Given the description of an element on the screen output the (x, y) to click on. 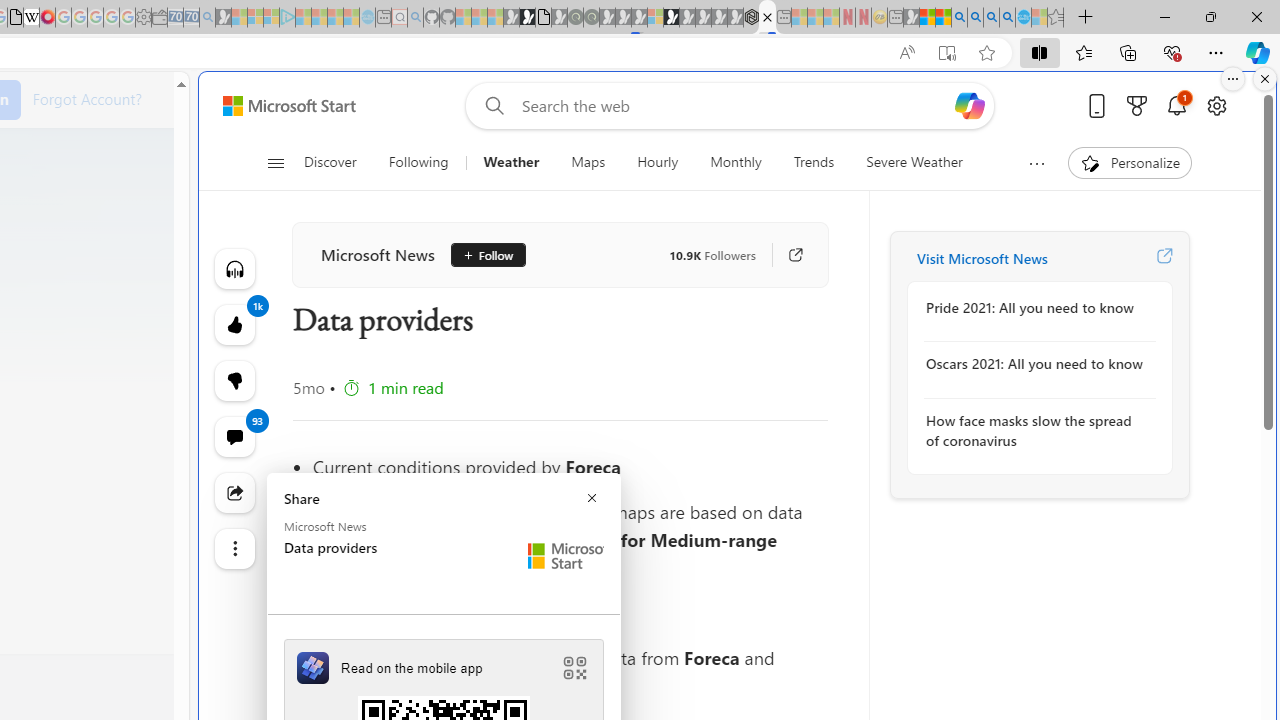
Show more topics (1036, 163)
Microsoft News (377, 254)
2009 Bing officially replaced Live Search on June 3 - Search (975, 17)
